Given the description of an element on the screen output the (x, y) to click on. 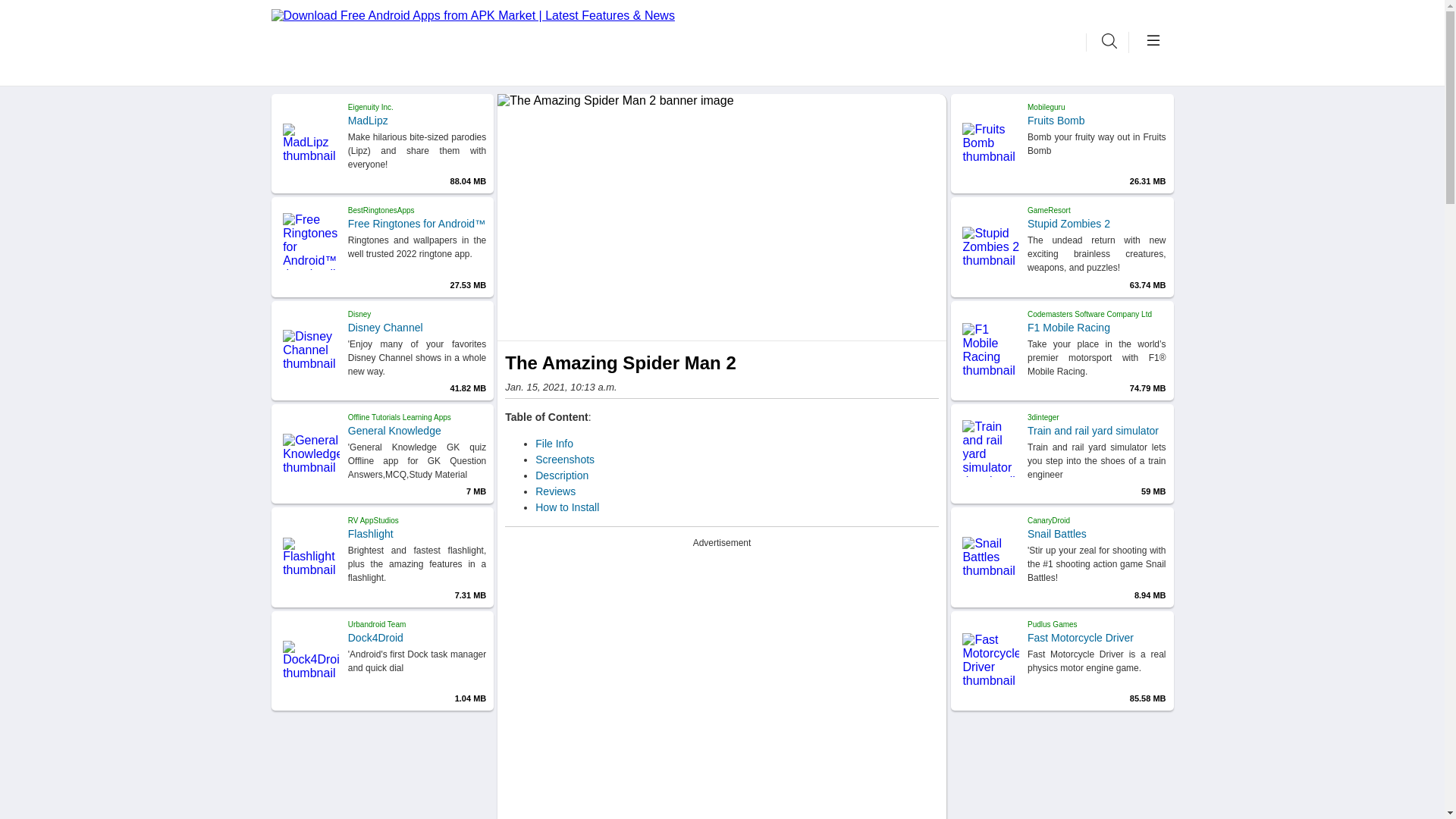
File Info (554, 443)
MadLipz (416, 120)
Train and rail yard simulator (1096, 430)
F1 Mobile Racing (1096, 327)
Snail Battles (1096, 533)
How to Install (566, 507)
Dock4Droid (416, 637)
Stupid Zombies 2 (1096, 223)
Reviews (555, 491)
General Knowledge (416, 430)
Flashlight (416, 533)
Description (561, 475)
Fruits Bomb (1096, 120)
Disney Channel (416, 327)
Screenshots (564, 459)
